Given the description of an element on the screen output the (x, y) to click on. 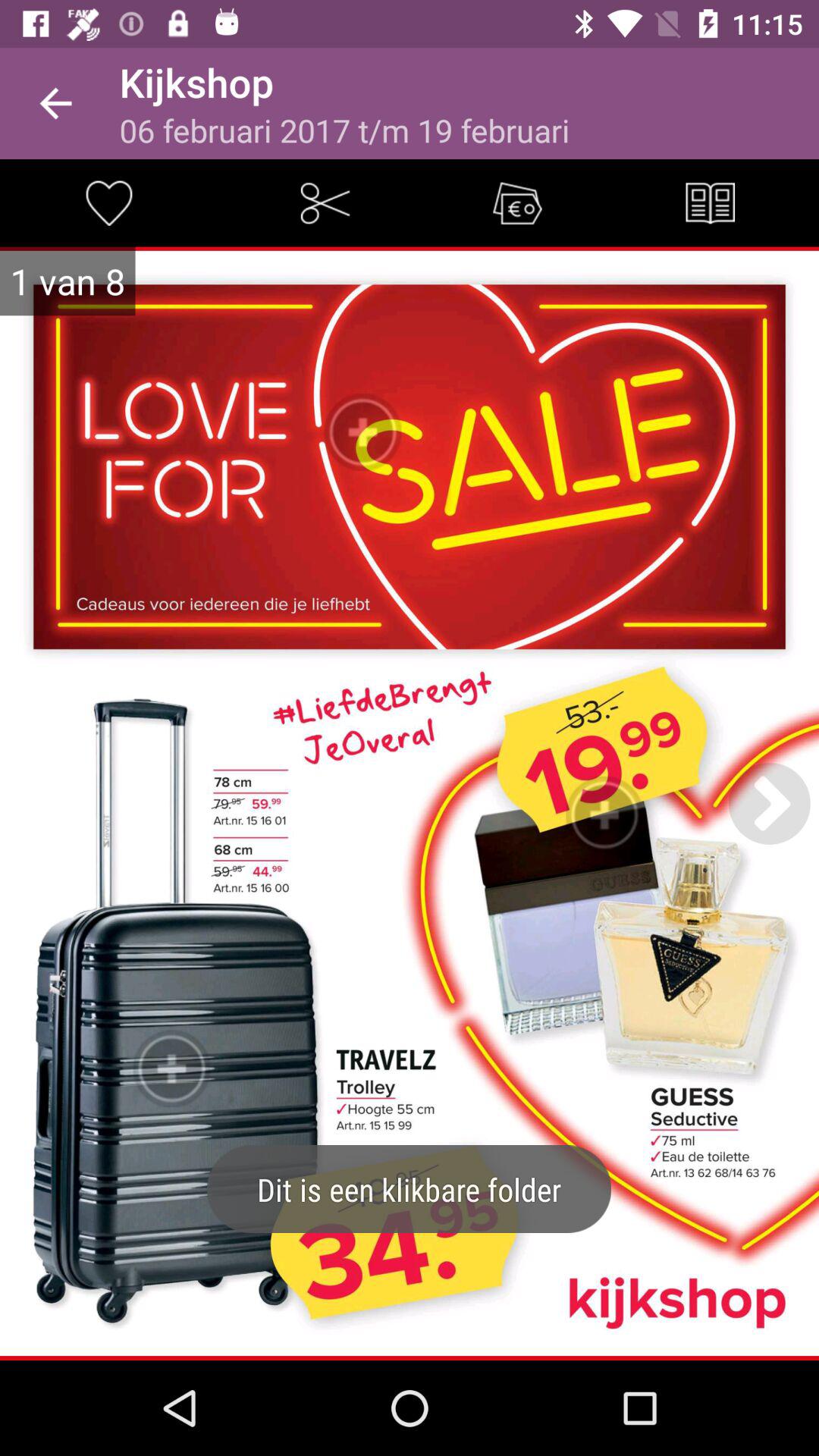
click the app to the right of the 06 februari 2017 (710, 202)
